Given the description of an element on the screen output the (x, y) to click on. 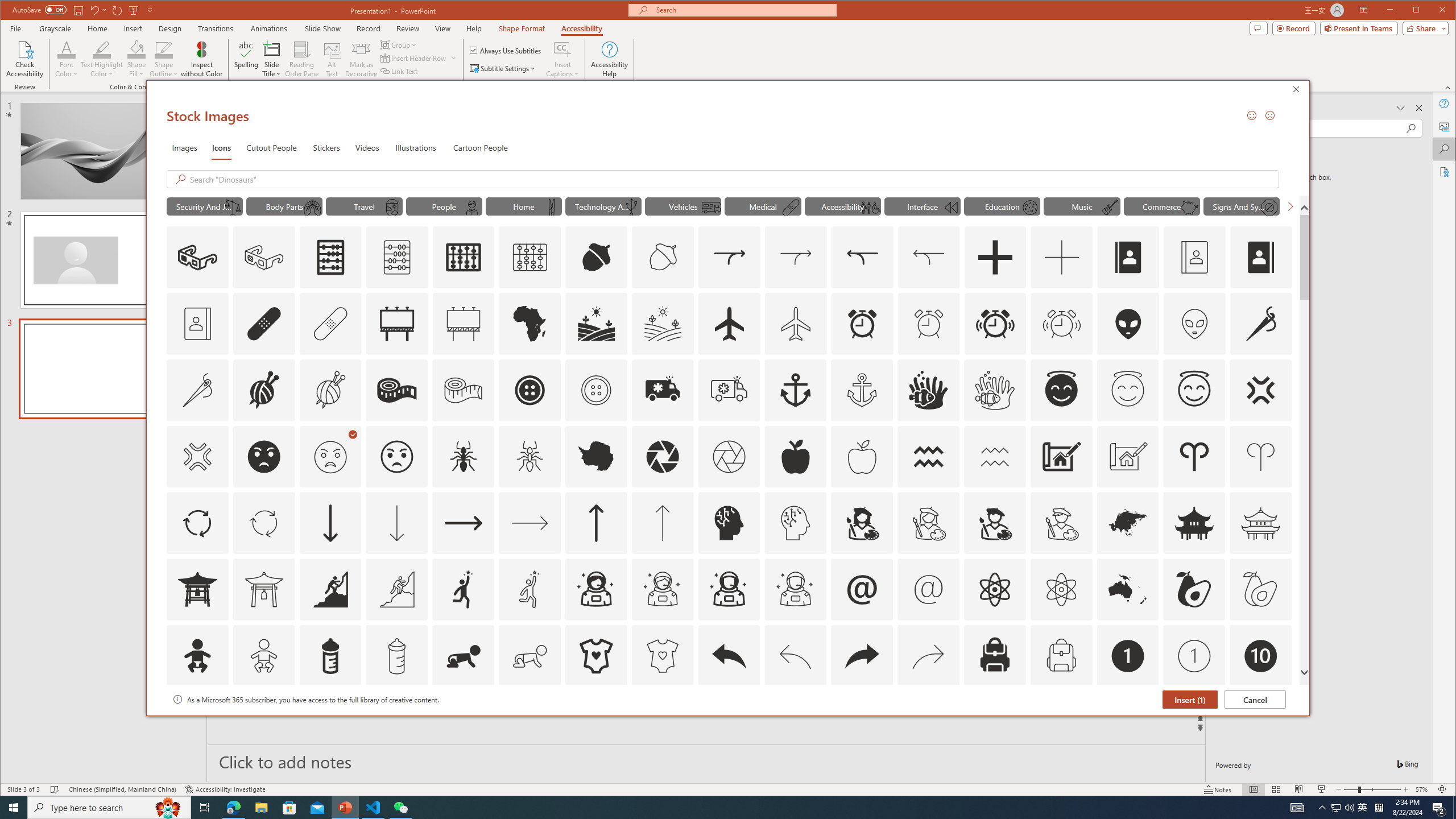
AutomationID: Icons_Ambulance_M (729, 389)
AutomationID: Icons_AngryFace (263, 456)
Mark as Decorative (360, 59)
Always Use Subtitles (505, 49)
AutomationID: Icons_Aspiration (330, 589)
Reading Order Pane (301, 59)
AutomationID: Icons_AlarmClock_M (928, 323)
